Given the description of an element on the screen output the (x, y) to click on. 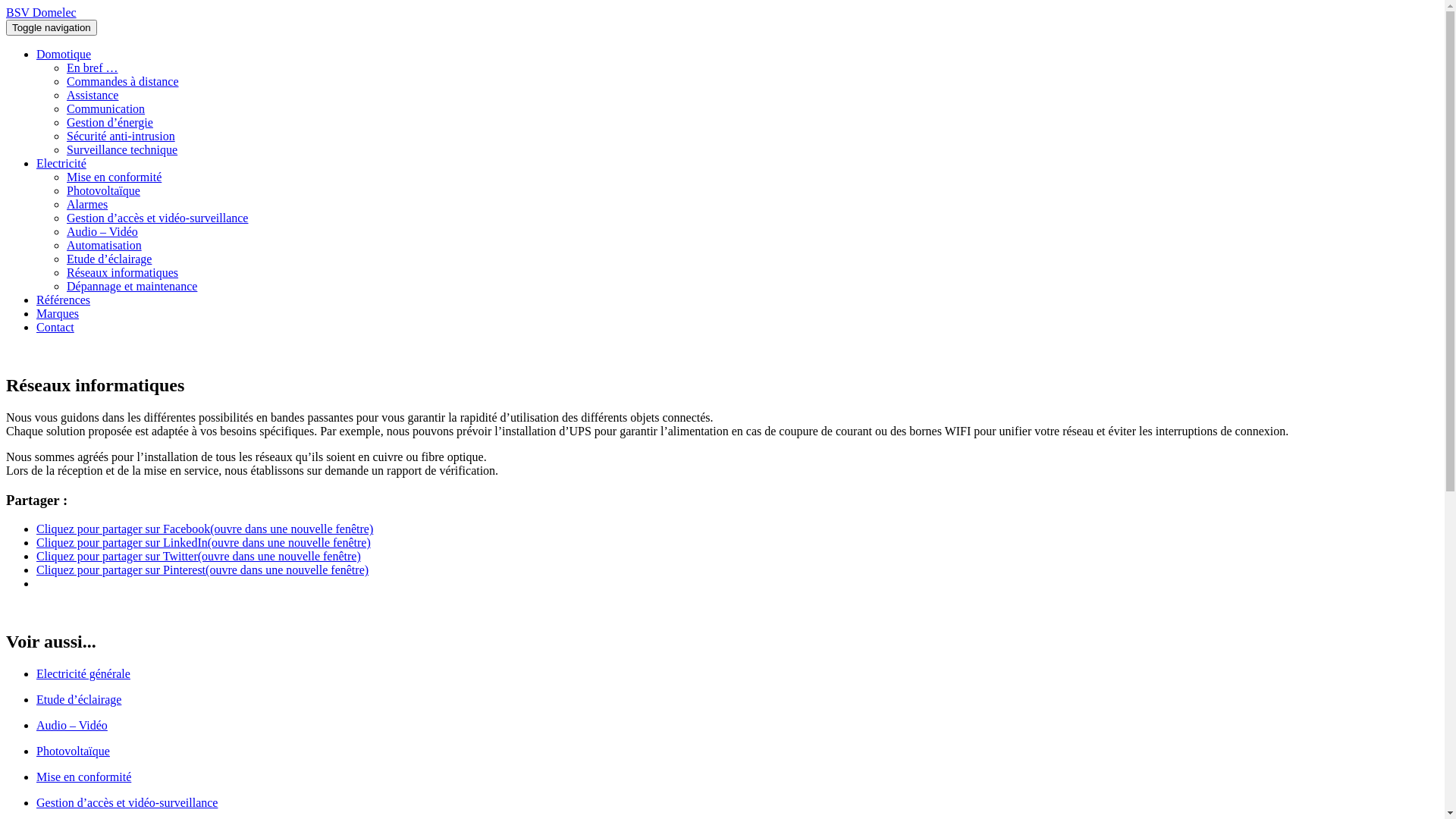
Automatisation Element type: text (103, 244)
BSV Domelec Element type: text (41, 12)
Surveillance technique Element type: text (121, 149)
Domotique Element type: text (63, 53)
Alarmes Element type: text (86, 203)
Contact Element type: text (55, 326)
Marques Element type: text (57, 313)
Toggle navigation Element type: text (51, 27)
Communication Element type: text (105, 108)
Assistance Element type: text (92, 94)
